Given the description of an element on the screen output the (x, y) to click on. 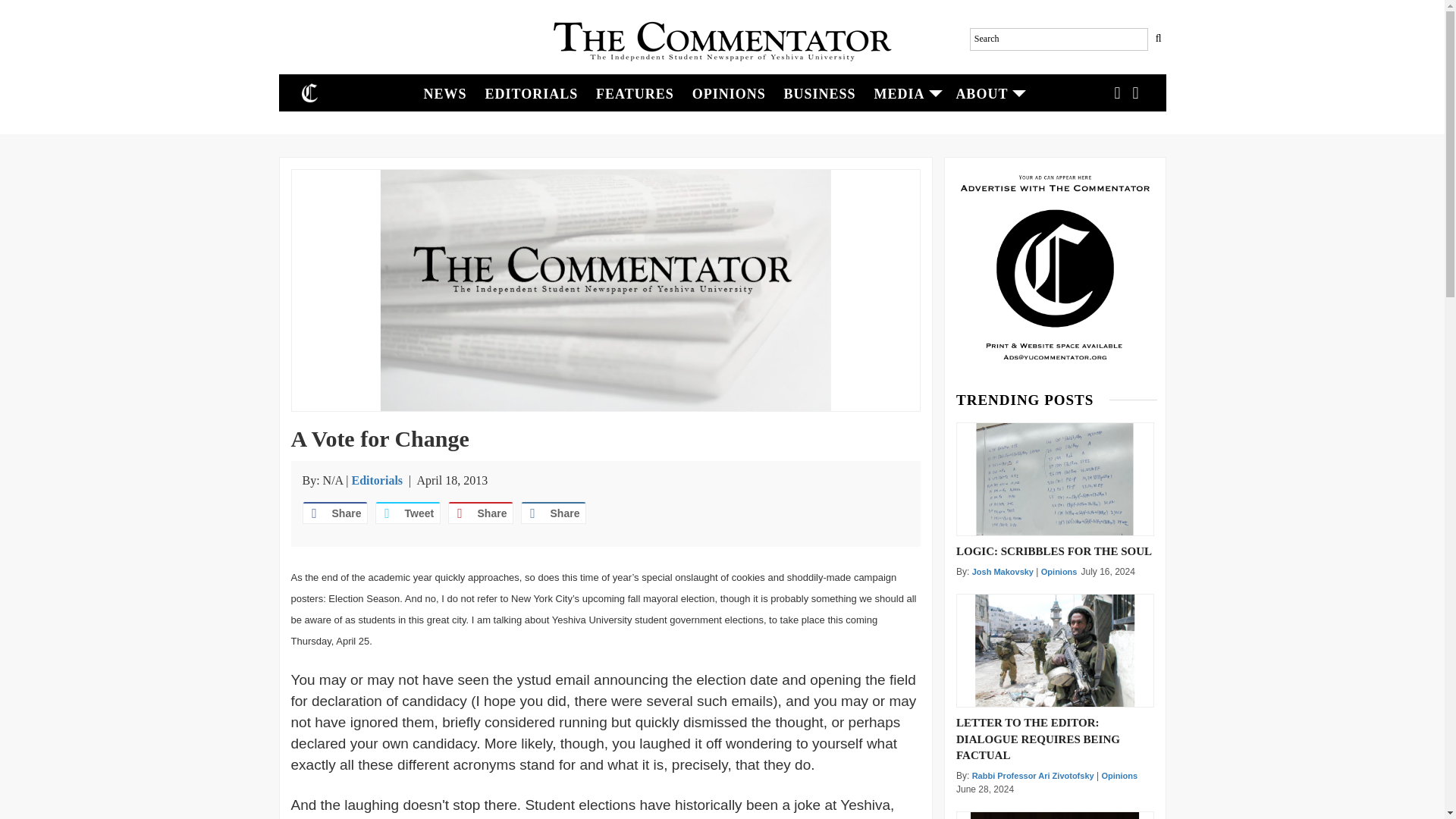
Share on Facebook (333, 513)
Share (479, 513)
Opinions (1118, 775)
ABOUT (987, 92)
Share (333, 513)
LOGIC: SCRIBBLES FOR THE SOUL (1055, 549)
NEWS (445, 92)
When Will The Federal Reserve Lower Interest Rates? (1054, 815)
Share on LinkedIn (552, 513)
BUSINESS (819, 92)
Letter to The Editor: Dialogue Requires Being Factual (1054, 650)
OPINIONS (728, 92)
Tweet (406, 513)
Josh Makovsky (1002, 571)
A Vote for Change (605, 290)
